Given the description of an element on the screen output the (x, y) to click on. 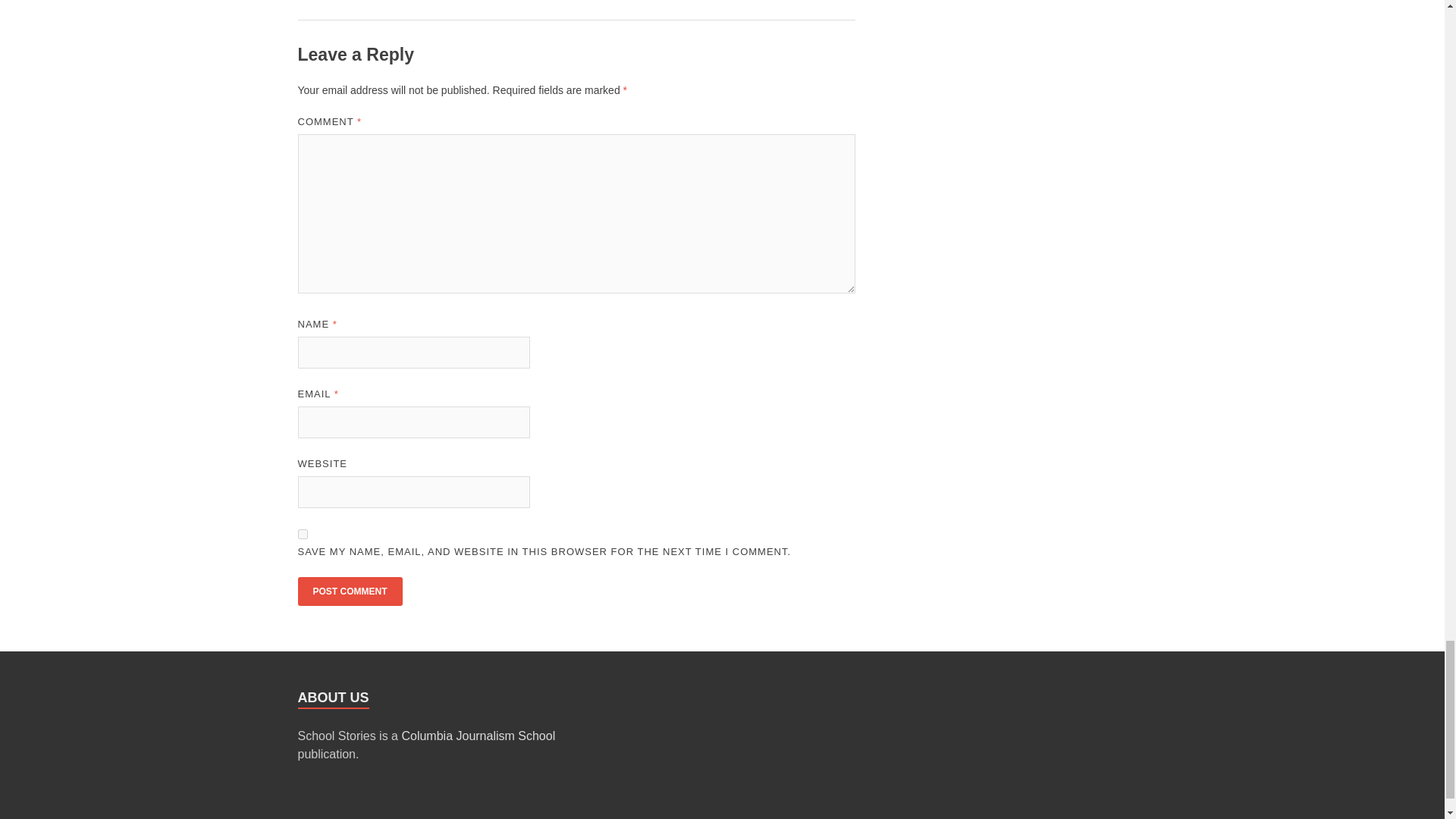
Post Comment (349, 591)
yes (302, 533)
